Given the description of an element on the screen output the (x, y) to click on. 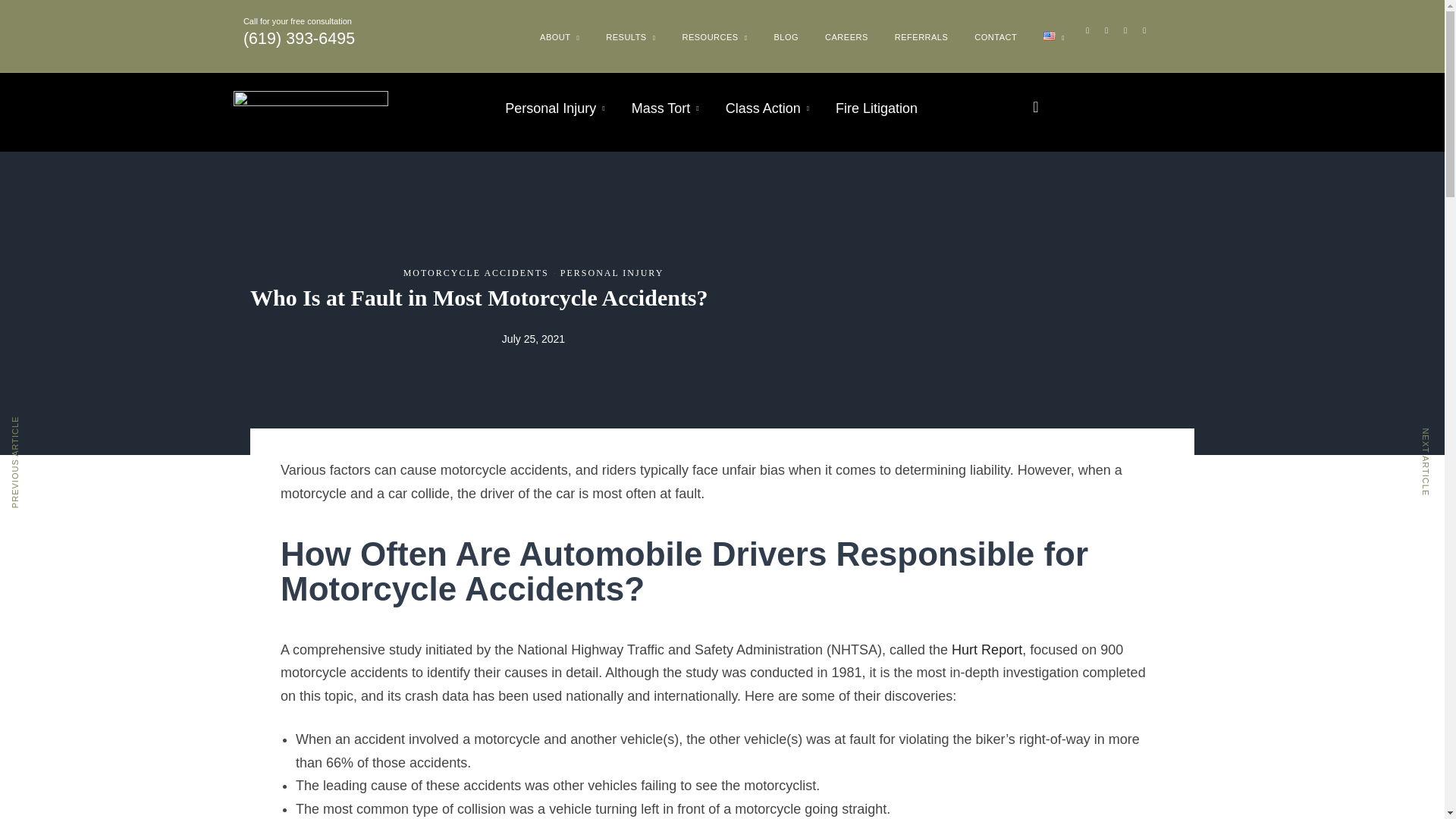
CAREERS (846, 37)
BLOG (786, 37)
Personal Injury (554, 108)
CONTACT (995, 37)
RESOURCES (714, 42)
ABOUT (559, 42)
RESULTS (630, 42)
Mass Tort (665, 108)
REFERRALS (921, 37)
